Given the description of an element on the screen output the (x, y) to click on. 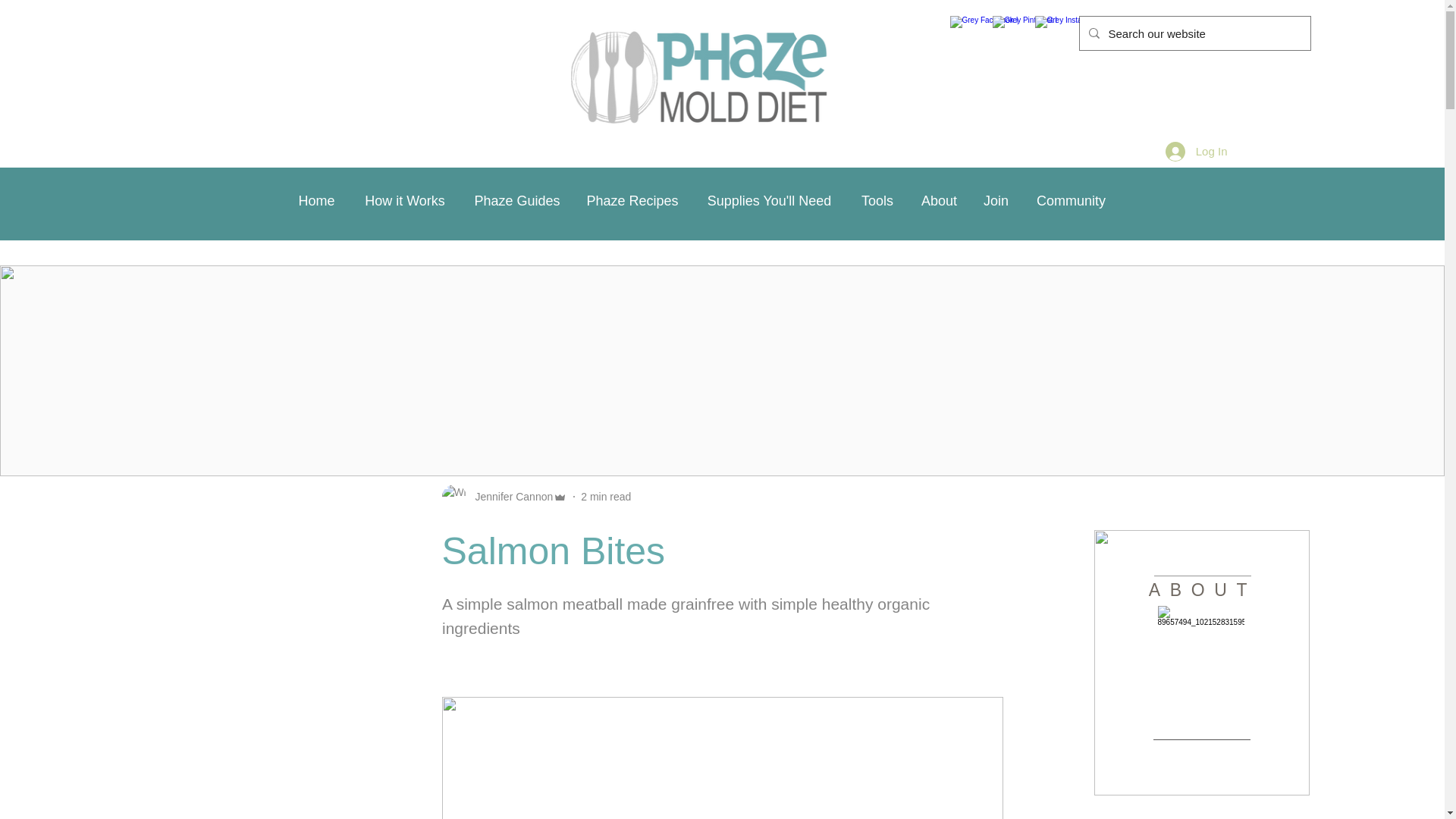
Supplies You'll Need (769, 200)
Log In (1196, 150)
Jennifer Cannon (509, 496)
2 min read (605, 495)
Phaze Recipes (631, 200)
